Given the description of an element on the screen output the (x, y) to click on. 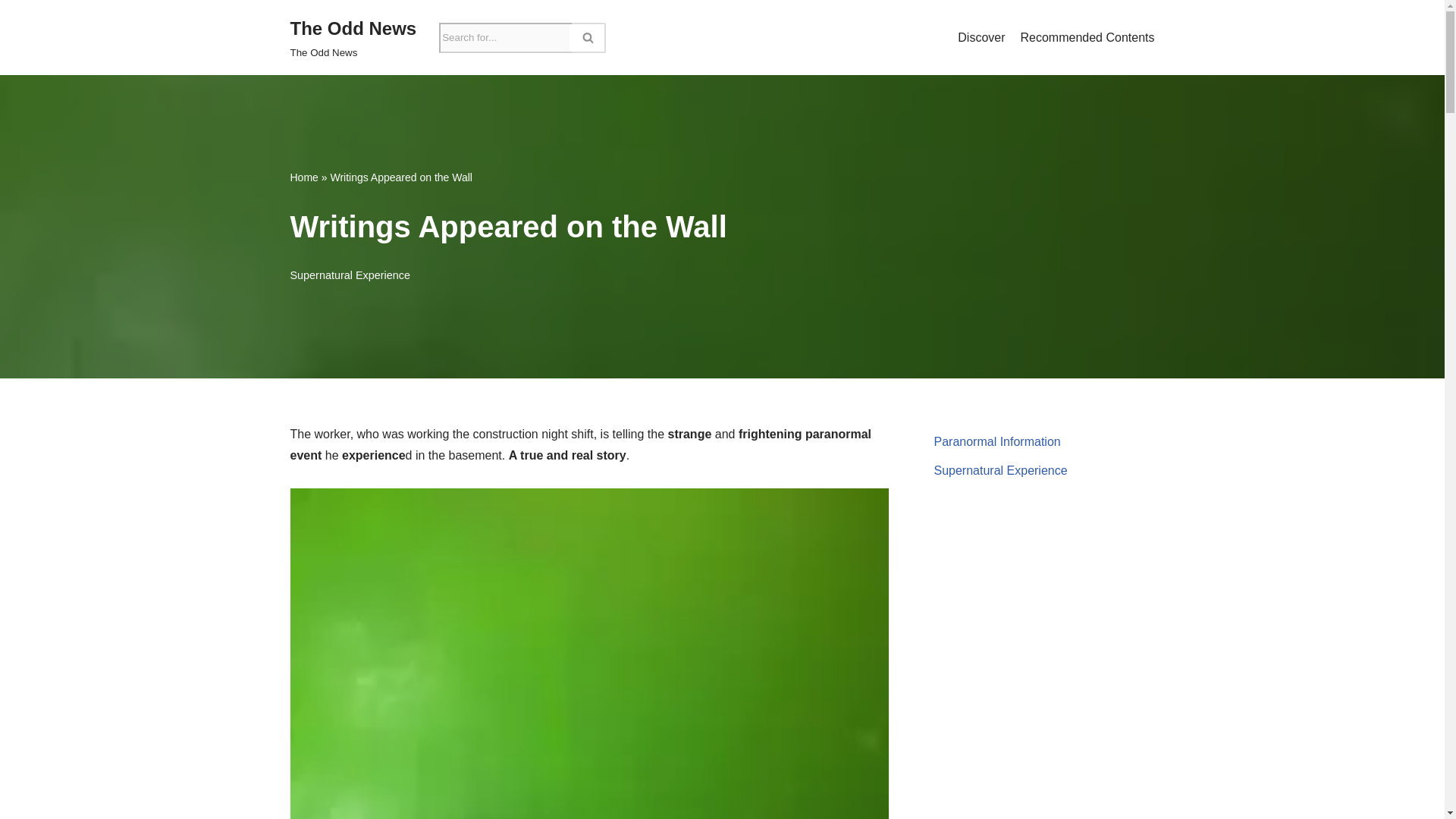
The Odd News (352, 37)
Skip to content (11, 31)
Home (303, 177)
Supernatural Experience (349, 275)
Recommended Contents (1087, 37)
Discover (352, 37)
